Given the description of an element on the screen output the (x, y) to click on. 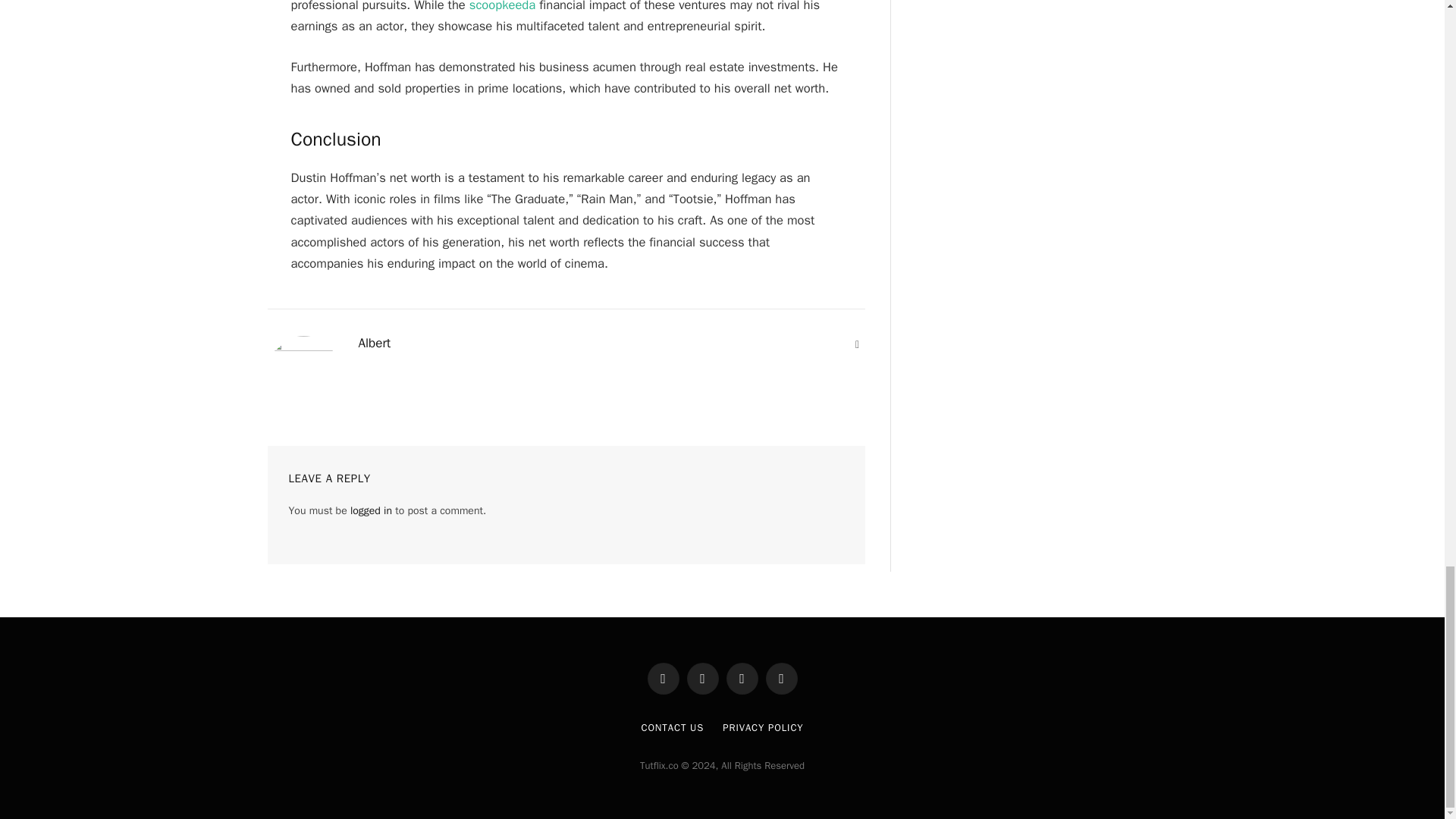
Posts by Albert (374, 343)
logged in (370, 510)
Website (856, 344)
Website (856, 344)
Albert (374, 343)
scoopkeeda (501, 6)
